Given the description of an element on the screen output the (x, y) to click on. 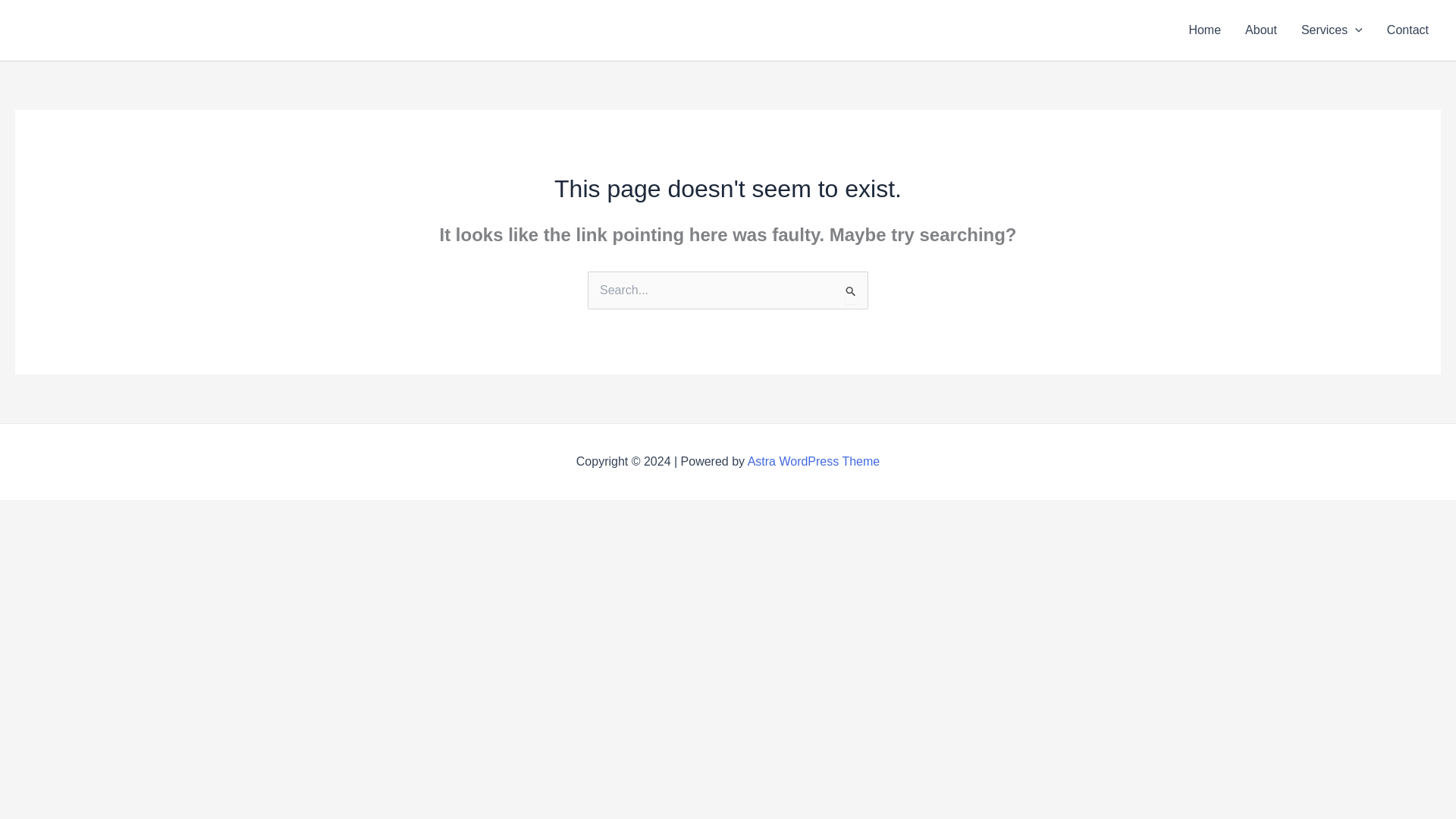
About (1260, 30)
Services (1331, 30)
Contact (1407, 30)
Astra WordPress Theme (814, 461)
Home (1204, 30)
